Given the description of an element on the screen output the (x, y) to click on. 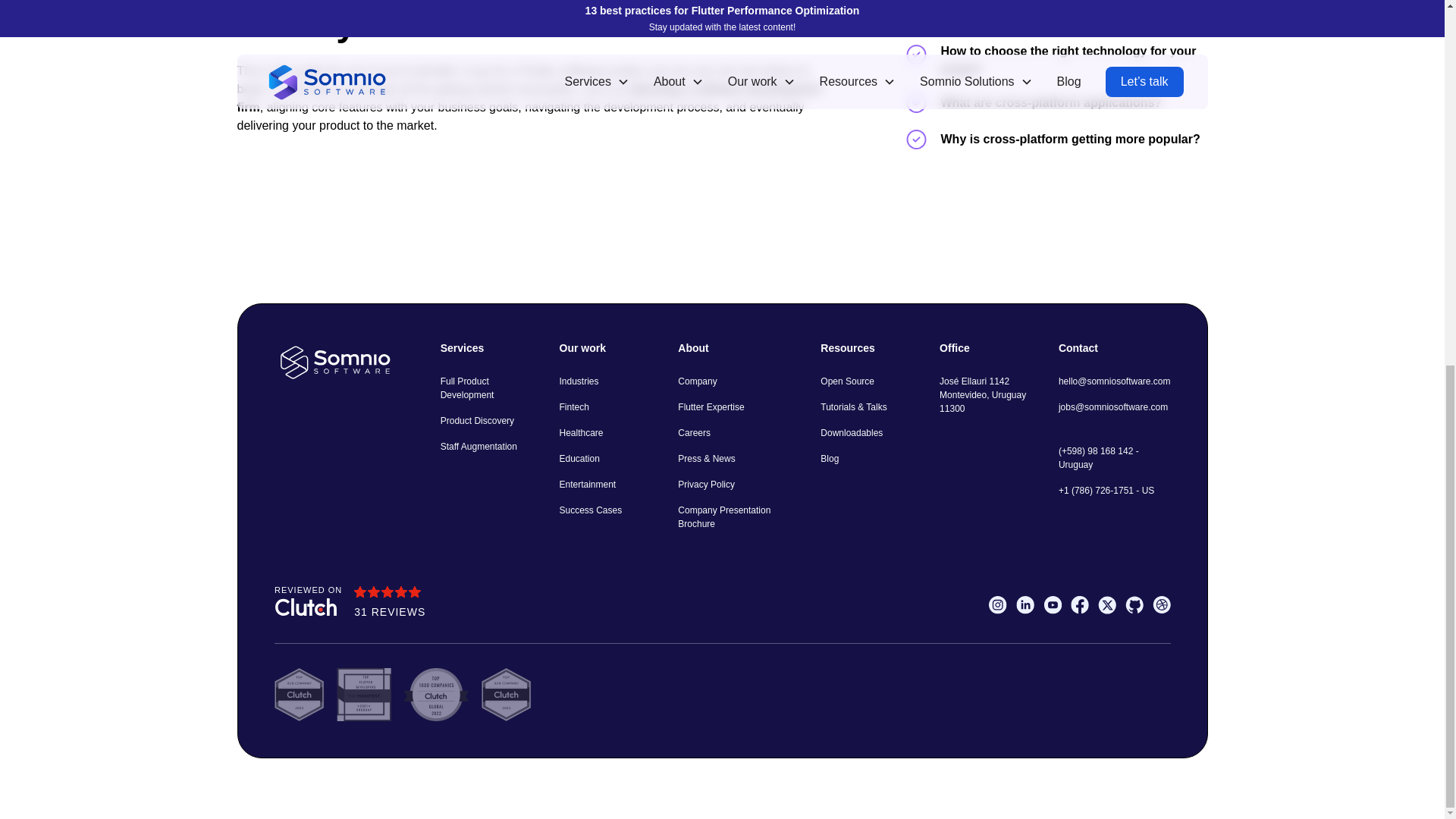
Fintech (574, 406)
Staff Augmentation (478, 446)
Full Product Development (488, 387)
Healthcare (581, 432)
Product Discovery (477, 420)
Industries (578, 380)
